Given the description of an element on the screen output the (x, y) to click on. 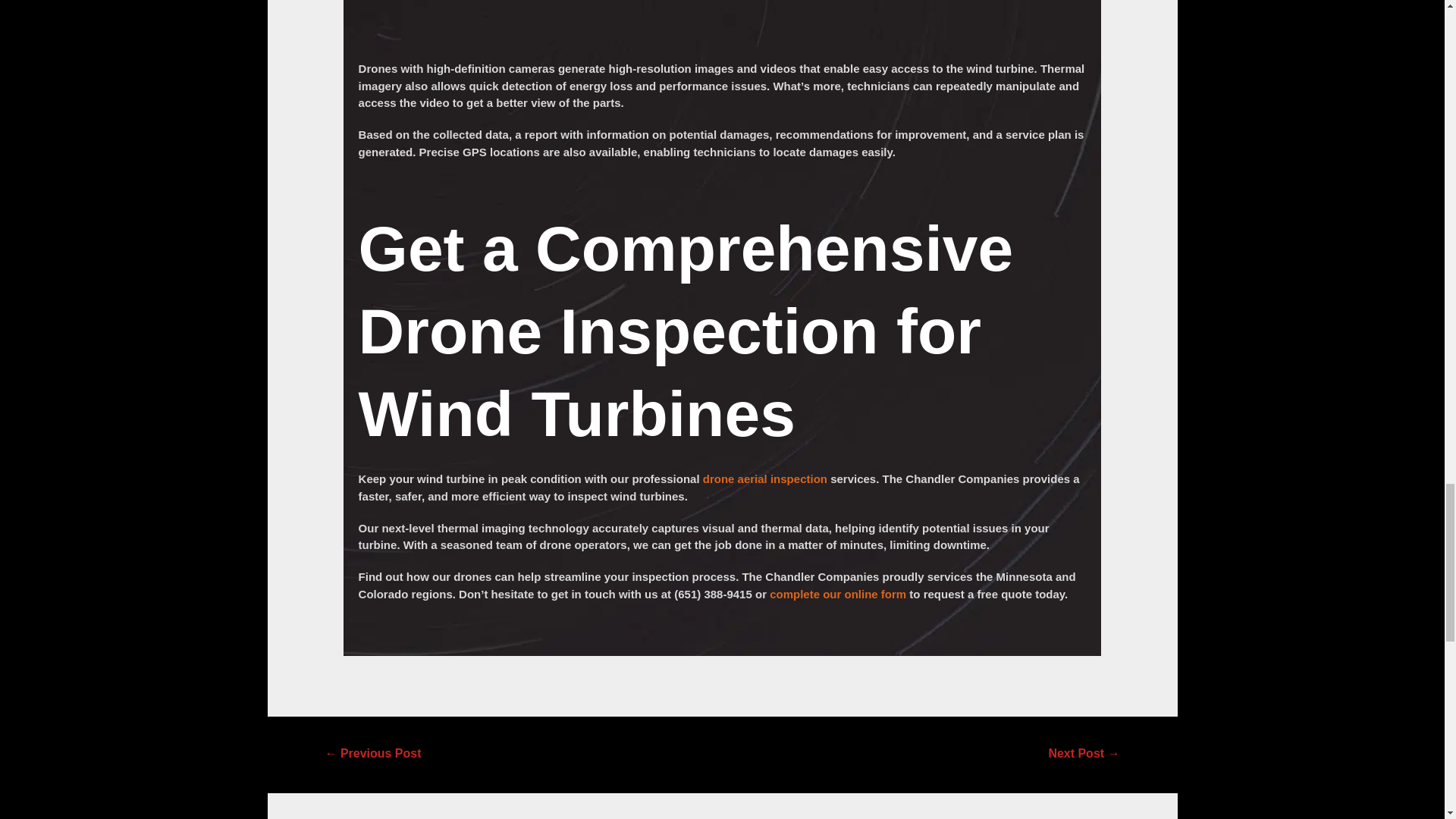
How Can Drone Surveys Speed Up Solar Farm Construction? (1083, 755)
